Given the description of an element on the screen output the (x, y) to click on. 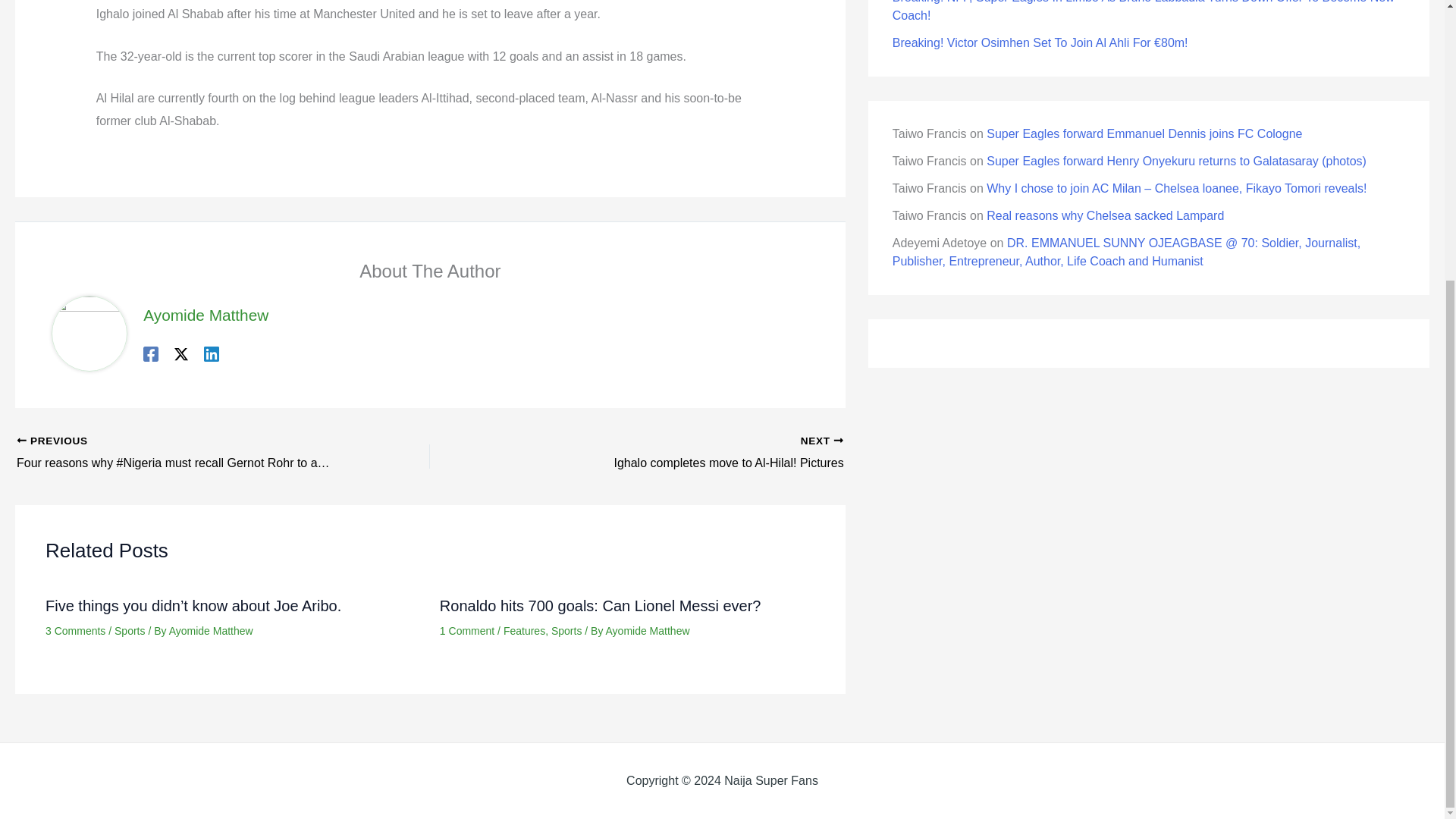
Real reasons why Chelsea sacked Lampard (1105, 215)
View all posts by Ayomide Matthew (210, 630)
3 Comments (74, 630)
Sports (129, 630)
Ayomide Matthew (678, 453)
Super Eagles forward Emmanuel Dennis joins FC Cologne (210, 630)
View all posts by Ayomide Matthew (1144, 133)
Ighalo completes move to Al-Hilal! Pictures (647, 630)
